Given the description of an element on the screen output the (x, y) to click on. 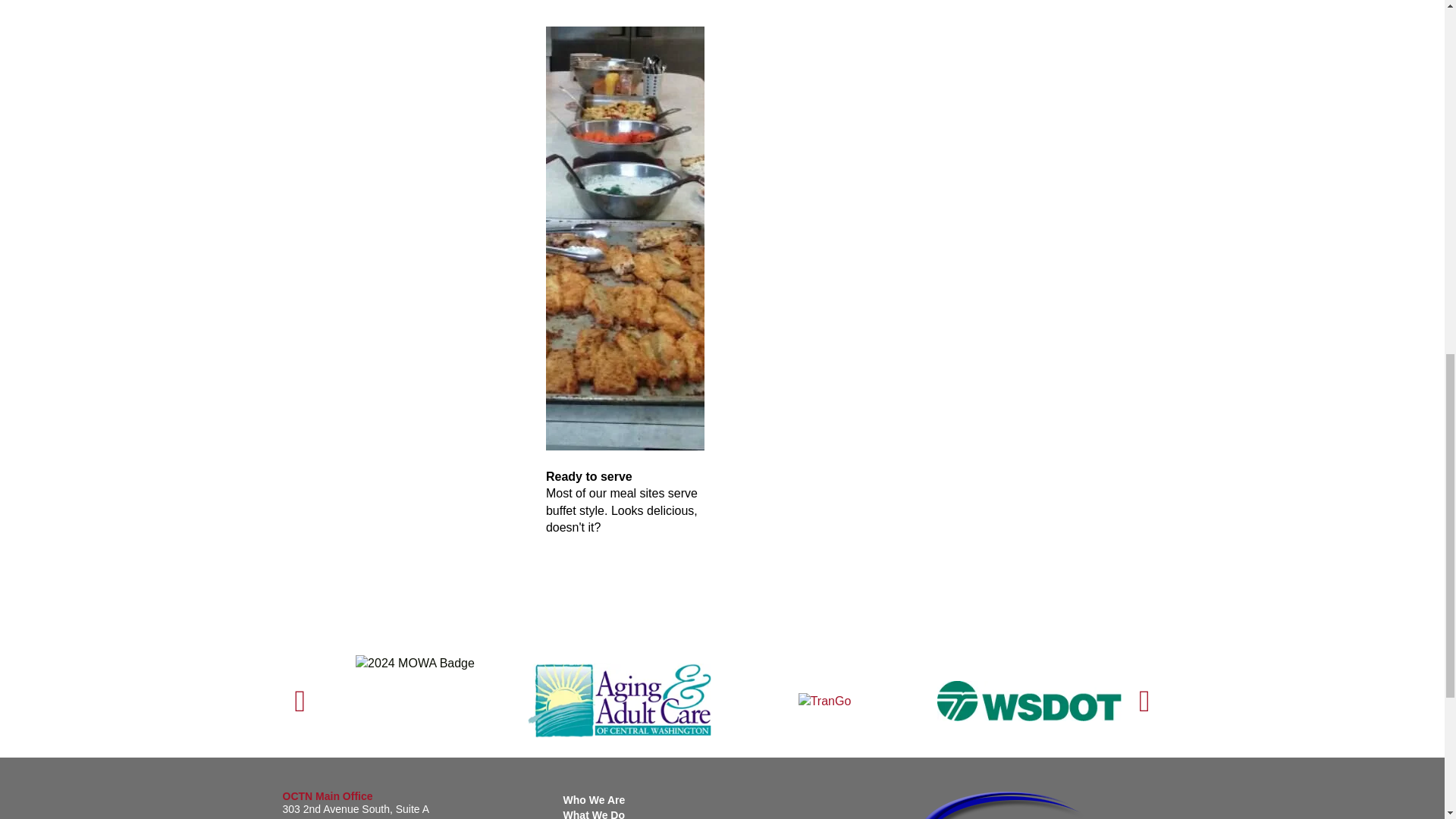
logo (1038, 804)
